Given the description of an element on the screen output the (x, y) to click on. 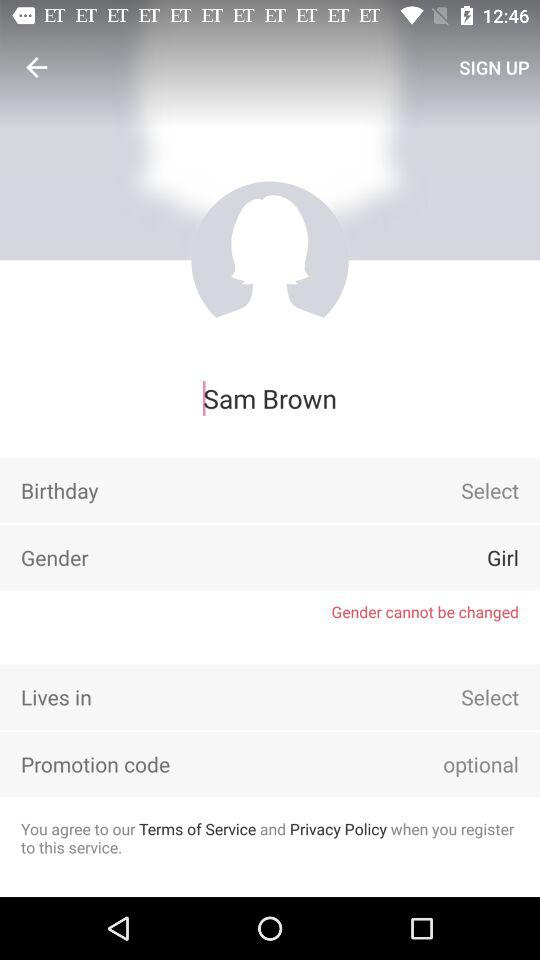
turn off the icon at the top left corner (36, 67)
